Given the description of an element on the screen output the (x, y) to click on. 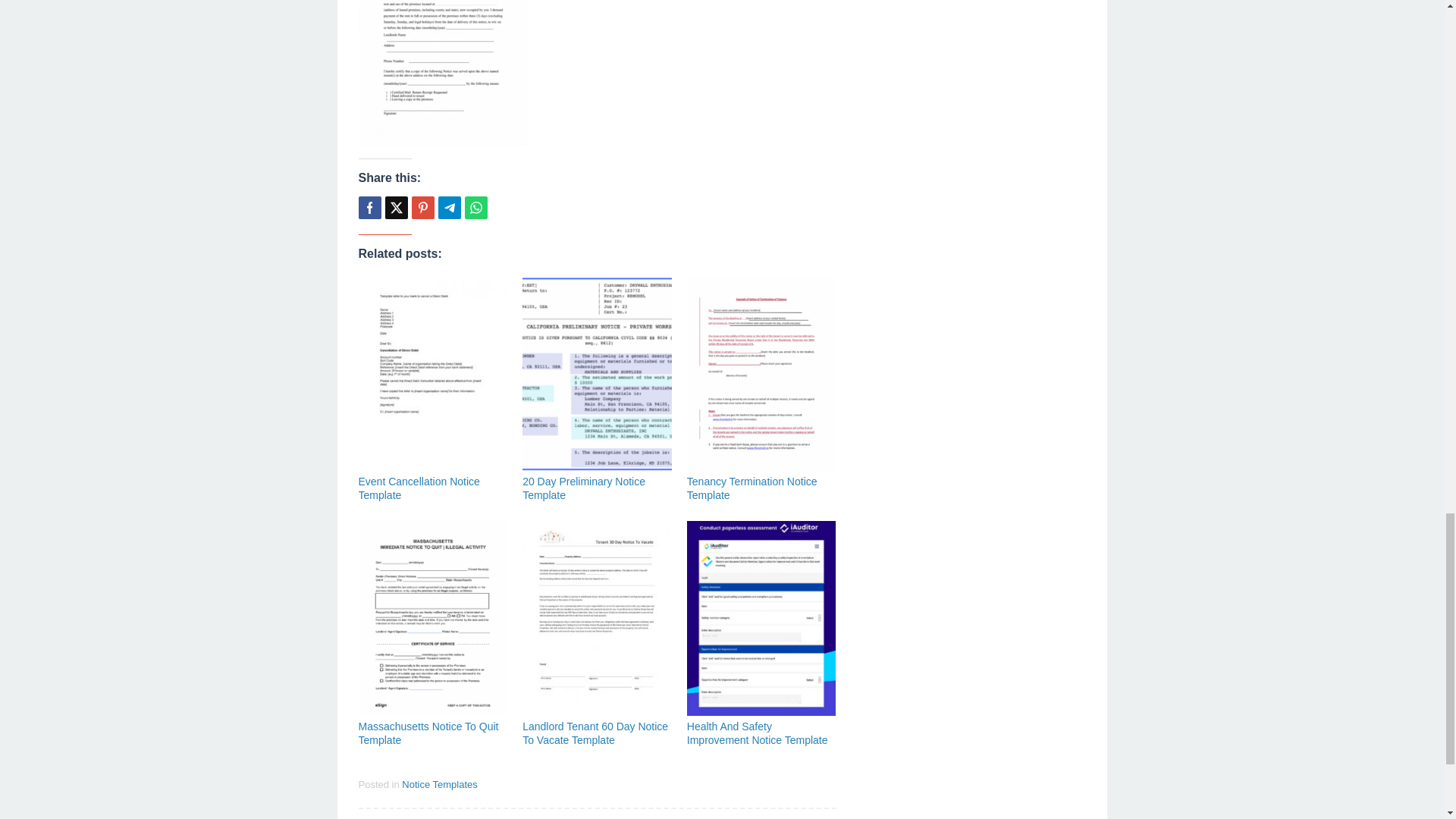
20 Day Preliminary Notice Template (583, 488)
Whatsapp (475, 207)
Landlord Tenant 60 Day Notice To Vacate Template (595, 733)
Pin this (421, 207)
Share this (369, 207)
Tweet this (396, 207)
Telegram Share (449, 207)
Permalink to: 20 Day Preliminary Notice Template (583, 488)
Tenancy Termination Notice Template (751, 488)
Massachusetts Notice To Quit Template (427, 733)
